Given the description of an element on the screen output the (x, y) to click on. 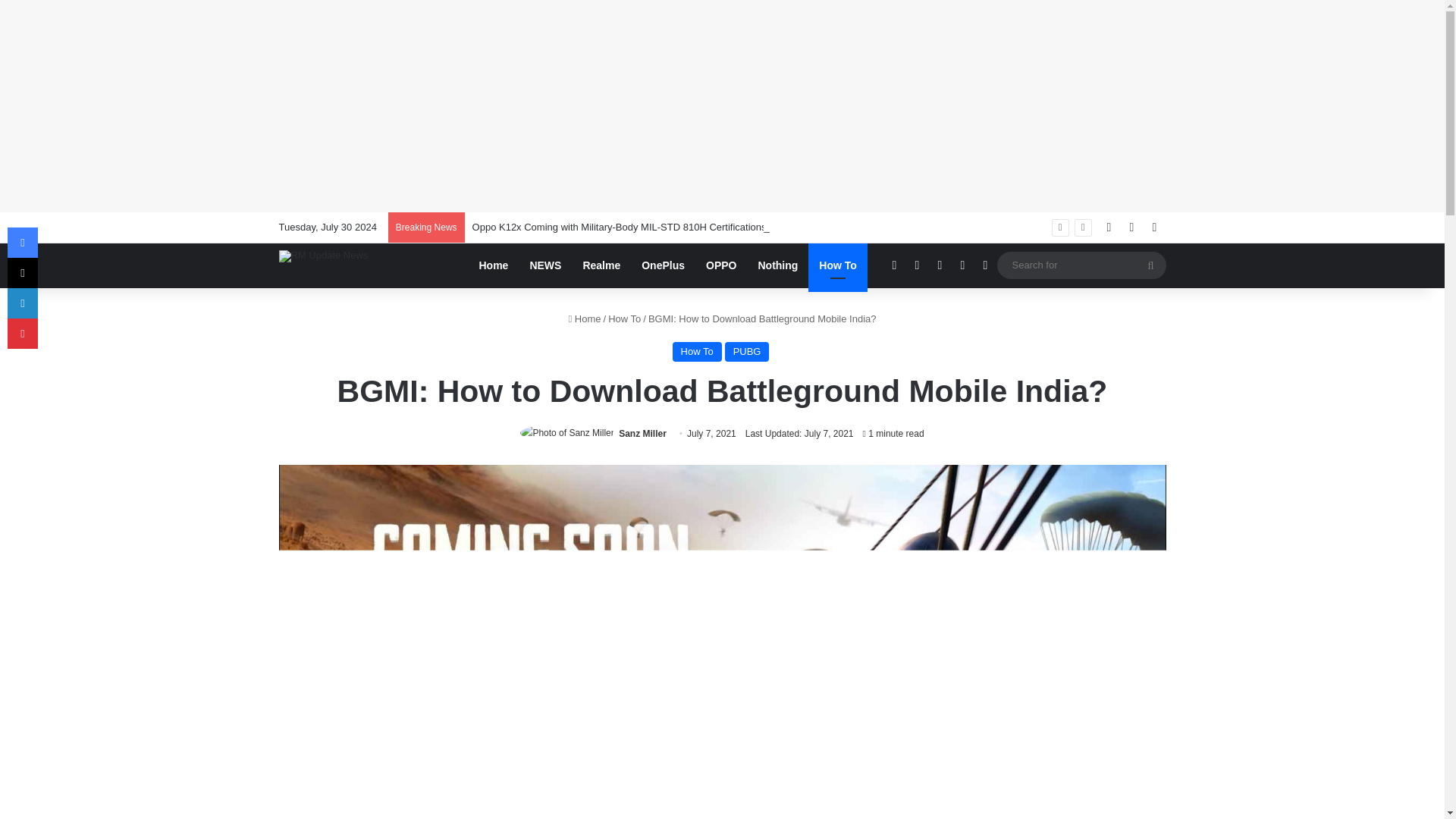
Sanz Miller (642, 433)
PUBG (747, 351)
Nothing (777, 265)
OPPO (720, 265)
Home (493, 265)
Search for (1080, 264)
NEWS (545, 265)
How To (697, 351)
How To (624, 318)
Realme (601, 265)
Sanz Miller (642, 433)
Home (583, 318)
OnePlus (662, 265)
